Given the description of an element on the screen output the (x, y) to click on. 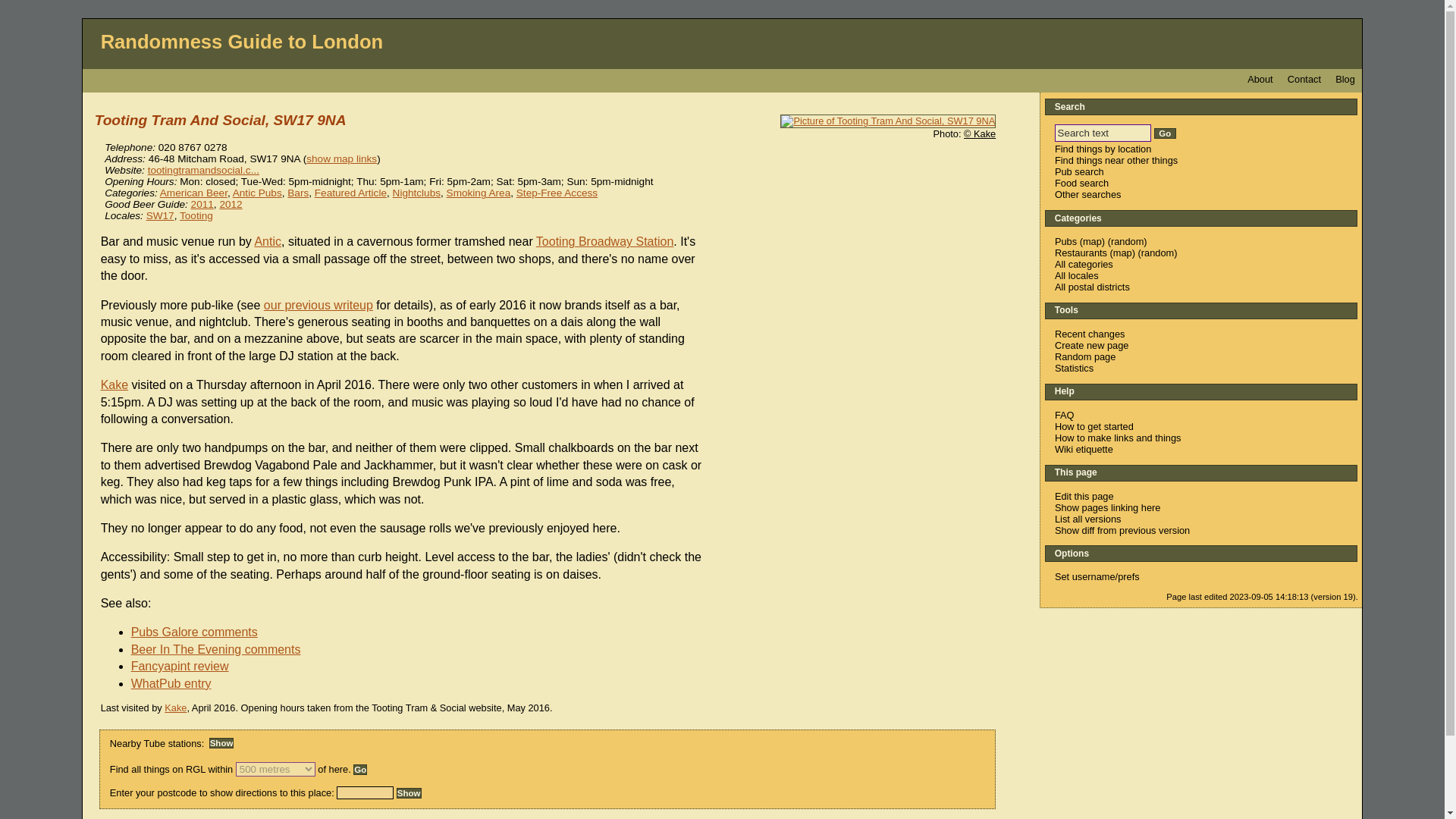
Step-Free Access (556, 193)
SW17 (160, 215)
our previous writeup (317, 305)
Search text (1102, 132)
Bars (297, 193)
View all restaurants on a map (1122, 252)
Kake (175, 707)
Smoking Area (478, 193)
View a list of all restaurants (1080, 252)
Beer In The Evening comments (221, 649)
